Given the description of an element on the screen output the (x, y) to click on. 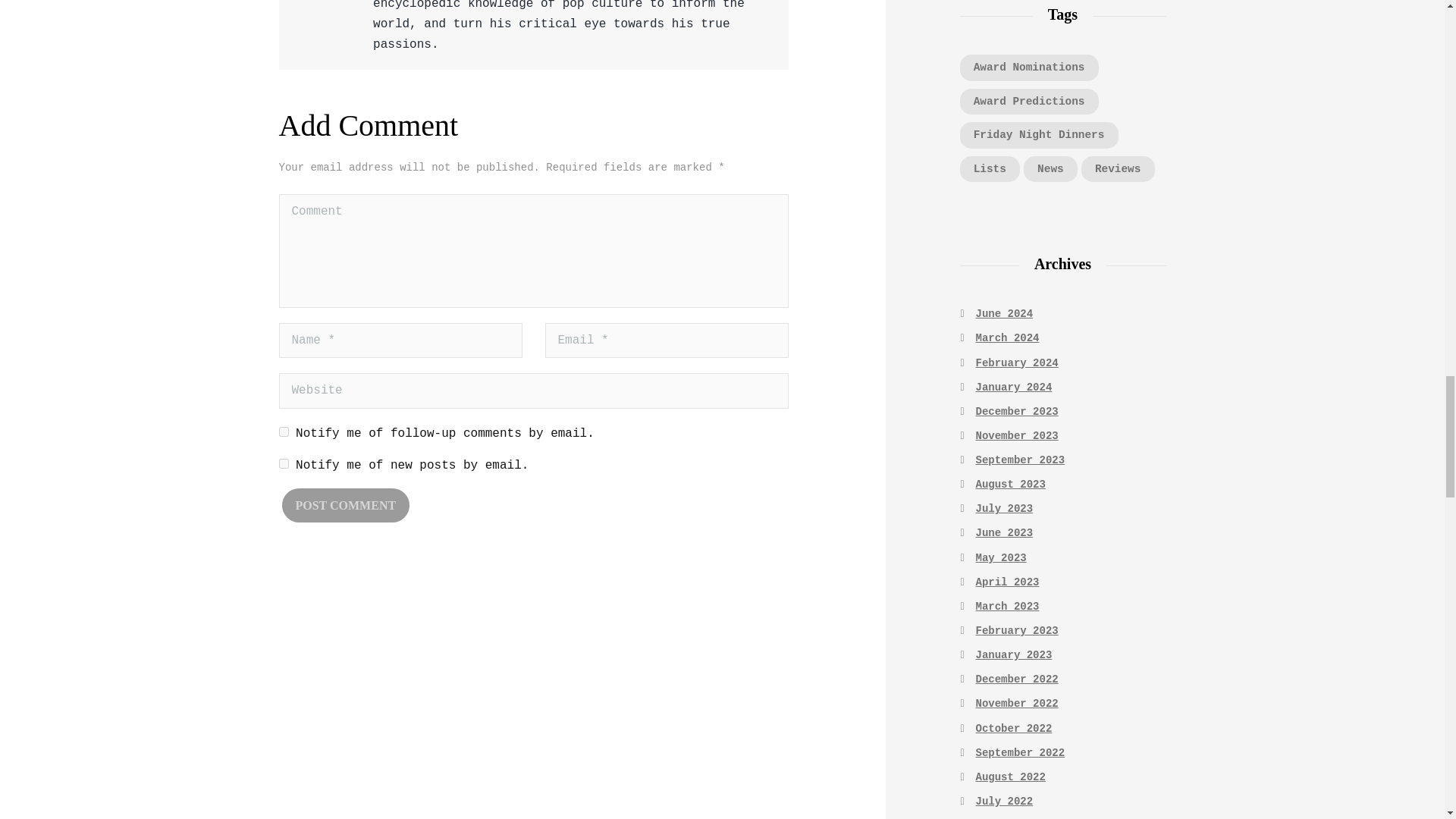
Post Comment (346, 505)
subscribe (283, 431)
subscribe (283, 463)
